Given the description of an element on the screen output the (x, y) to click on. 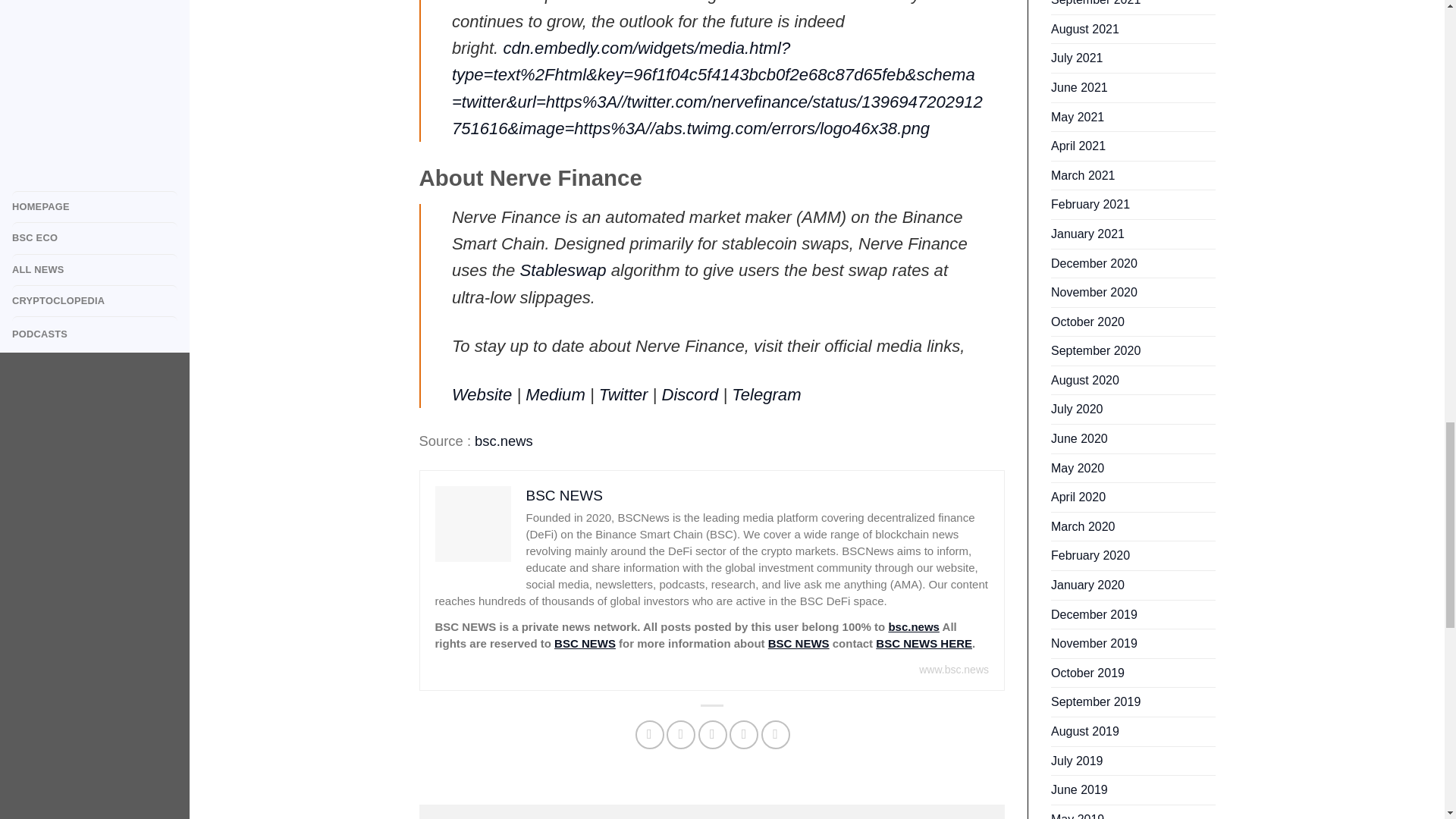
bsc.news (503, 440)
BSC NEWS (798, 643)
Pin on Pinterest (743, 734)
Email to a Friend (712, 734)
BSC NEWS (584, 643)
Share on Twitter (680, 734)
Discord (689, 394)
Share on Facebook (648, 734)
bsc.news (913, 626)
BSC NEWS HERE (924, 643)
Medium (555, 394)
www.bsc.news (953, 669)
Share on LinkedIn (775, 734)
Website (481, 394)
Stableswap (563, 270)
